Given the description of an element on the screen output the (x, y) to click on. 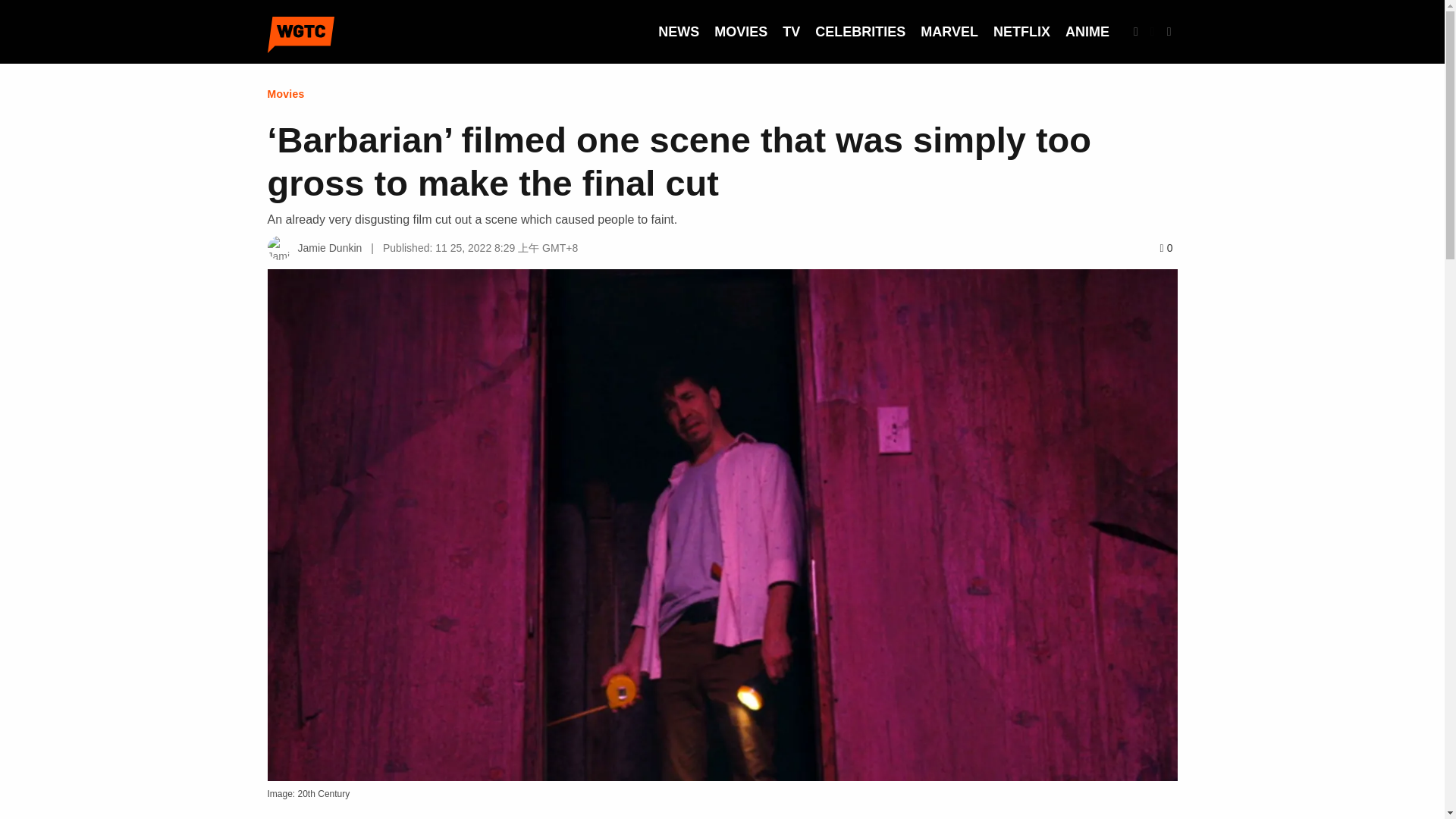
NEWS (678, 31)
MARVEL (949, 31)
MOVIES (740, 31)
ANIME (1087, 31)
CELEBRITIES (860, 31)
NETFLIX (1020, 31)
TV (791, 31)
